Given the description of an element on the screen output the (x, y) to click on. 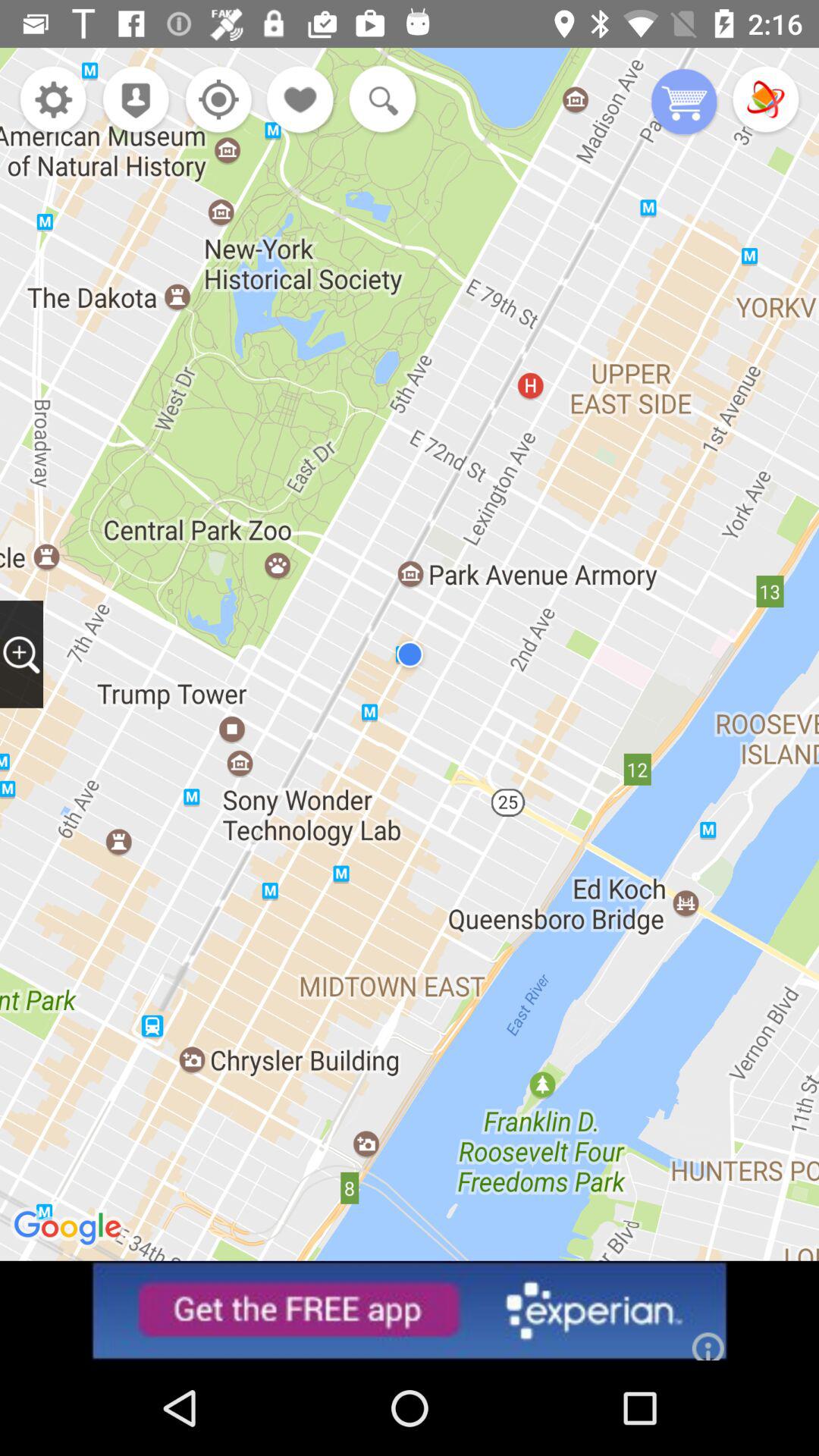
open settings (52, 100)
